Given the description of an element on the screen output the (x, y) to click on. 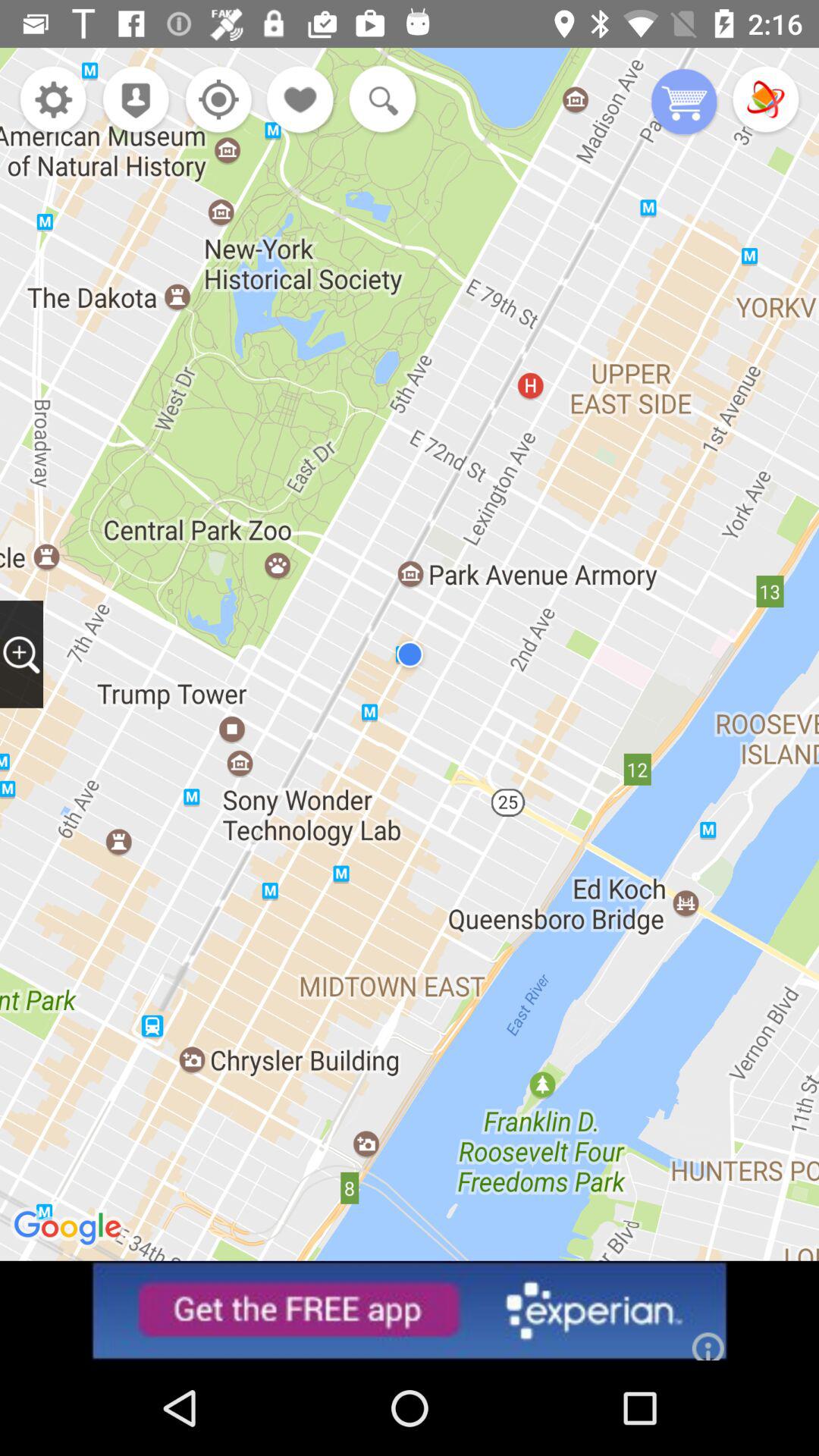
open settings (52, 100)
